Given the description of an element on the screen output the (x, y) to click on. 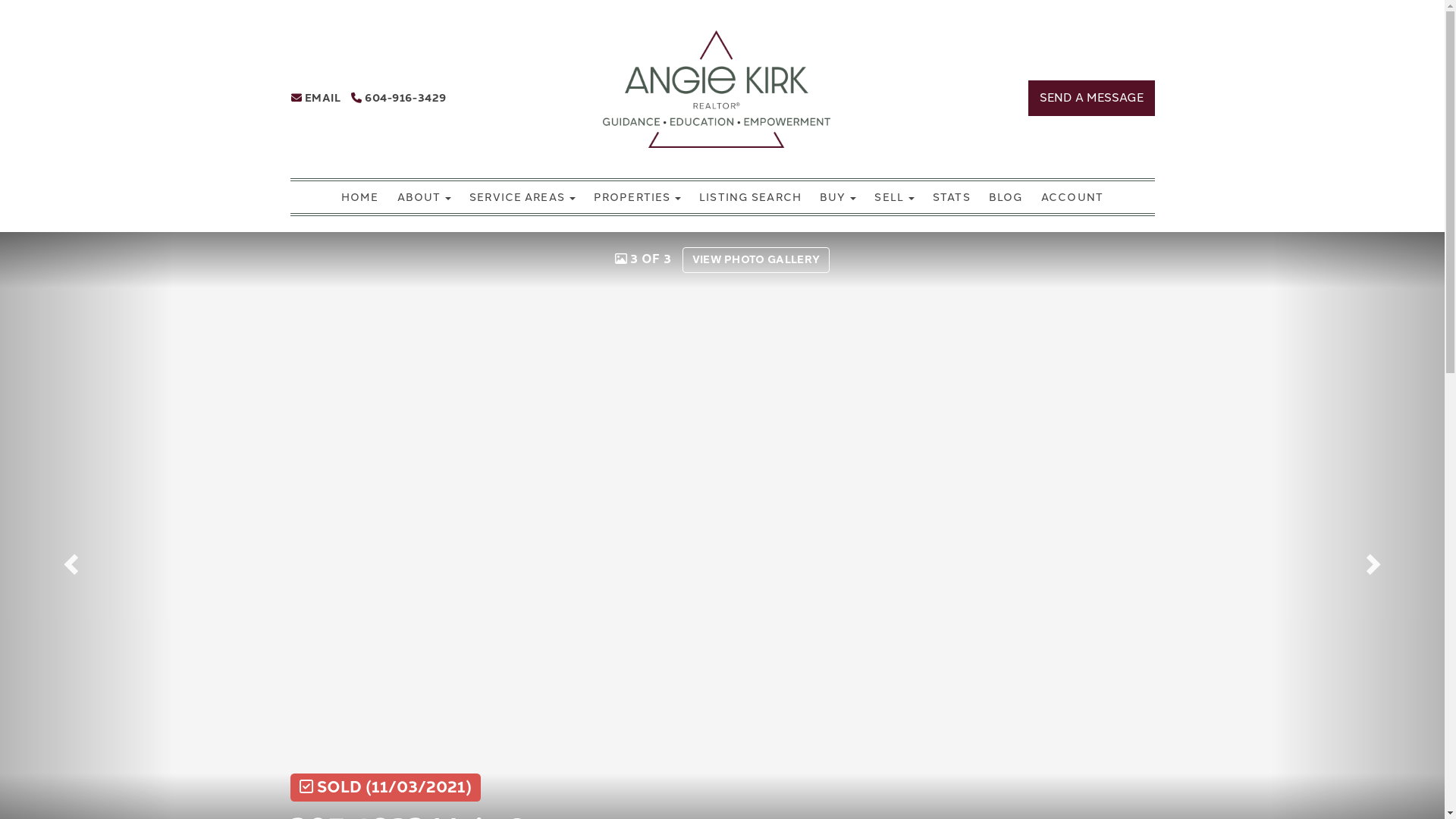
604-916-3429 Element type: text (398, 97)
BLOG Element type: text (1005, 197)
ABOUT Element type: text (424, 197)
VIEW PHOTO GALLERY Element type: text (756, 260)
BUY Element type: text (837, 197)
SELL Element type: text (894, 197)
STATS Element type: text (951, 197)
HOME Element type: text (359, 197)
SERVICE AREAS Element type: text (522, 197)
EMAIL Element type: text (316, 97)
PROPERTIES Element type: text (637, 197)
Angie Kirk - header brand logo Element type: hover (716, 88)
LISTING SEARCH Element type: text (750, 197)
SEND A MESSAGE Element type: text (1091, 98)
ACCOUNT Element type: text (1072, 197)
